Given the description of an element on the screen output the (x, y) to click on. 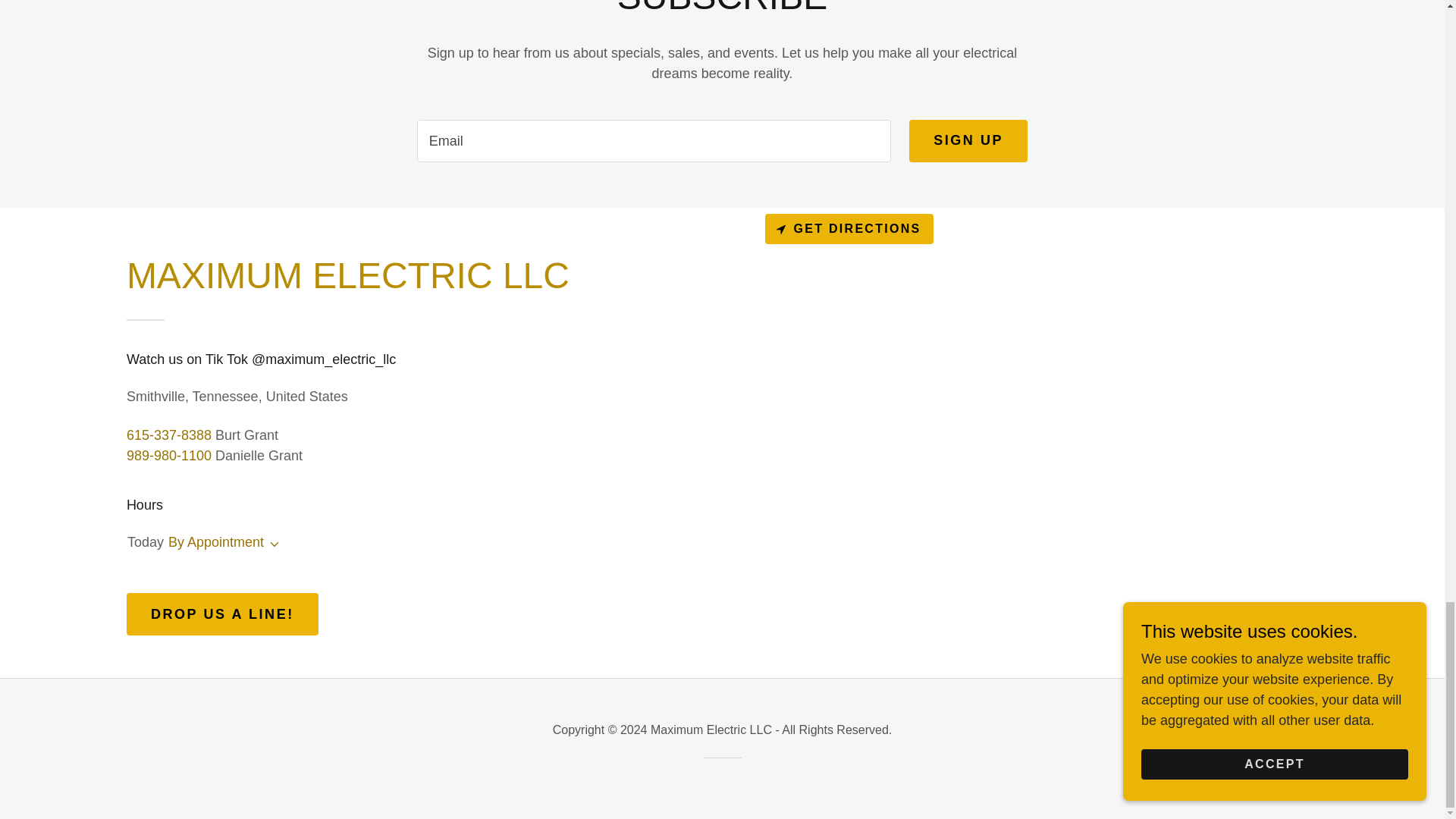
GET DIRECTIONS (848, 228)
DROP US A LINE! (222, 613)
SIGN UP (967, 140)
615-337-8388 (168, 435)
989-980-1100 (168, 455)
